Given the description of an element on the screen output the (x, y) to click on. 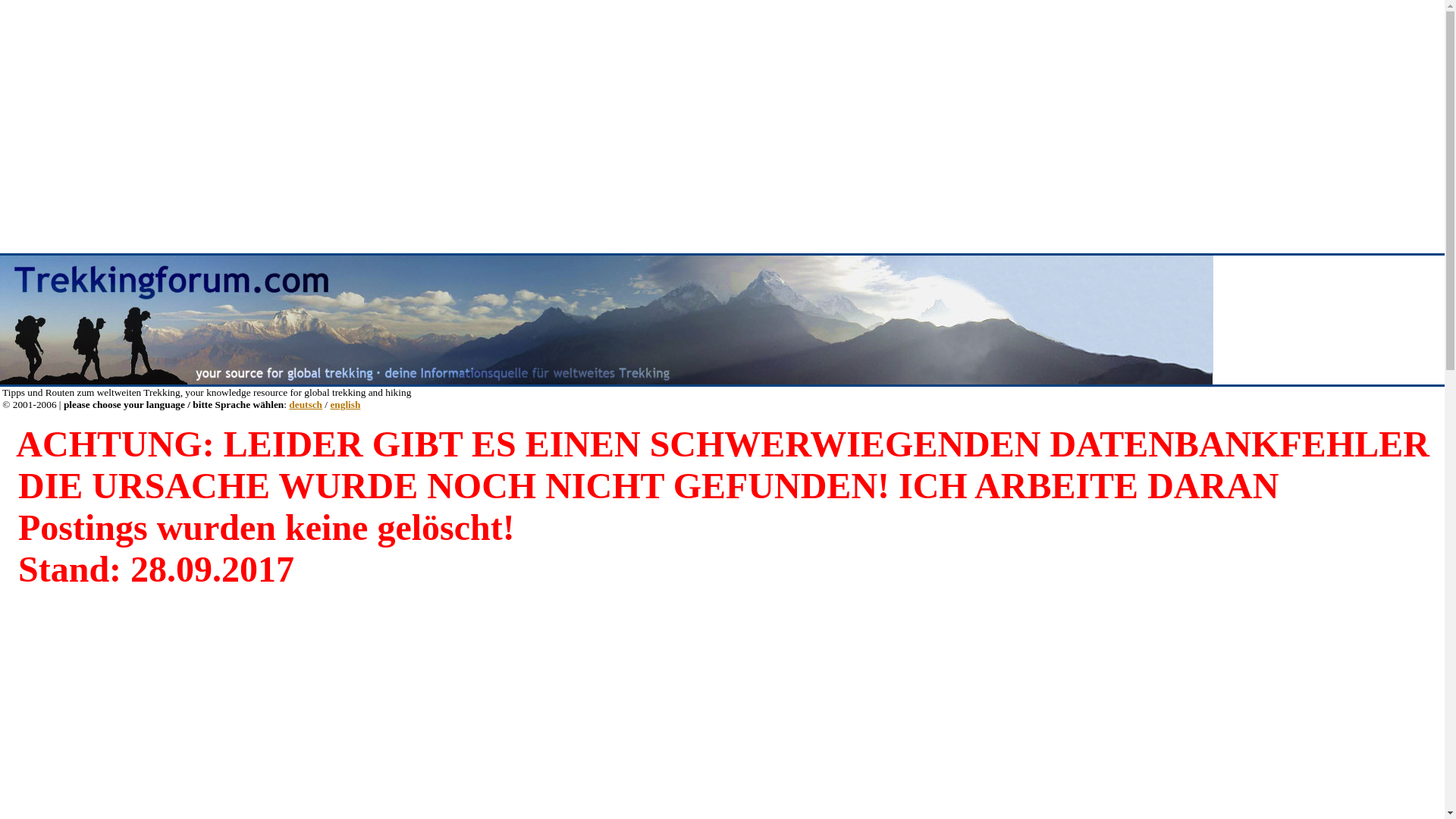
english Element type: text (344, 404)
deutsch Element type: text (305, 404)
